Given the description of an element on the screen output the (x, y) to click on. 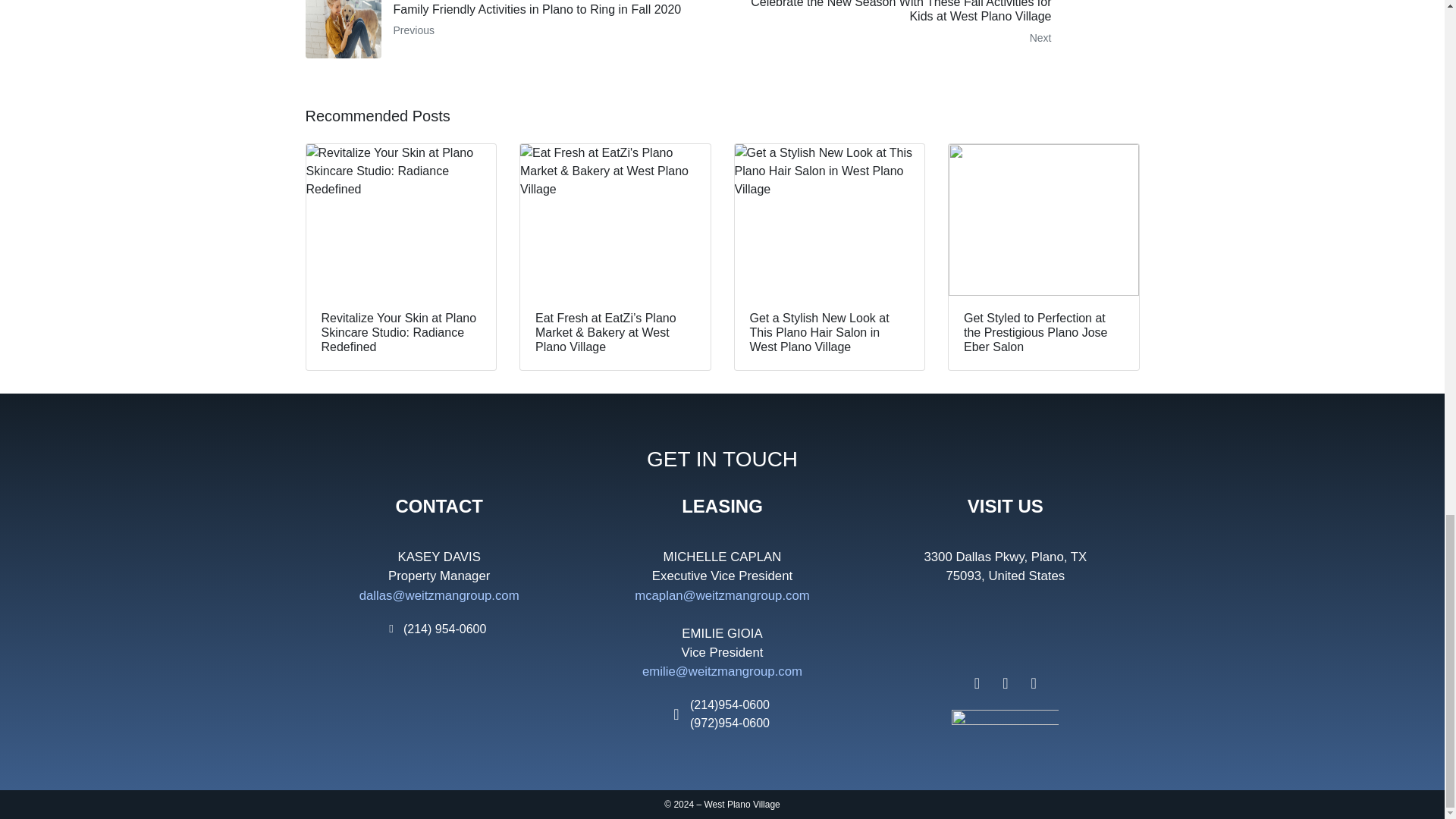
Family Friendly Activities in Plano to Ring in Fall 2020 (508, 29)
